Given the description of an element on the screen output the (x, y) to click on. 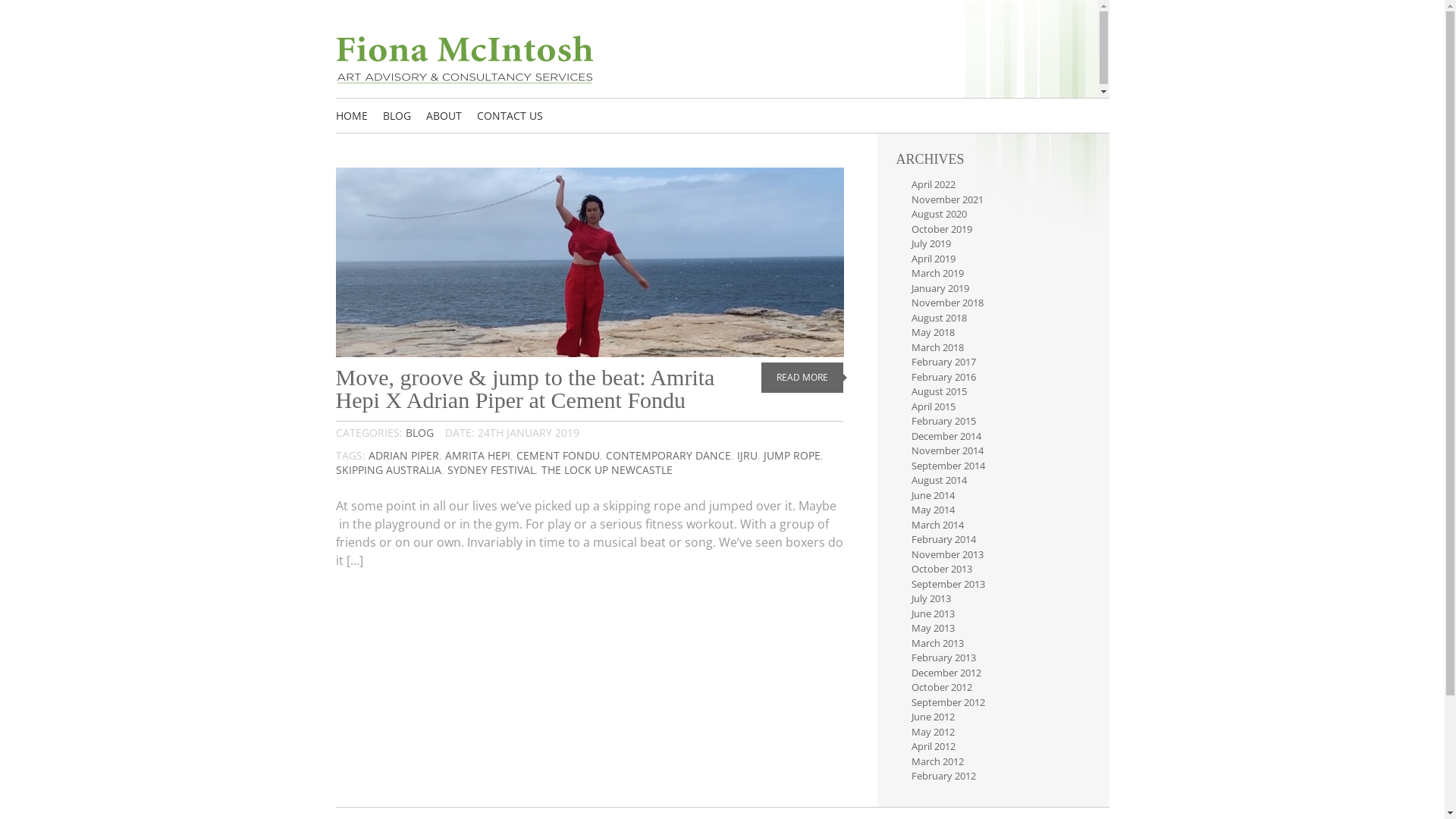
June 2013 Element type: text (932, 613)
June 2012 Element type: text (932, 716)
BLOG Element type: text (418, 432)
November 2018 Element type: text (947, 302)
June 2014 Element type: text (932, 495)
December 2012 Element type: text (946, 672)
May 2012 Element type: text (932, 731)
ABOUT Element type: text (443, 115)
November 2014 Element type: text (947, 450)
February 2013 Element type: text (943, 657)
September 2014 Element type: text (948, 464)
JUMP ROPE Element type: text (790, 454)
November 2013 Element type: text (947, 554)
ADRIAN PIPER Element type: text (403, 454)
October 2013 Element type: text (941, 568)
April 2019 Element type: text (933, 258)
July 2013 Element type: text (930, 598)
CONTEMPORARY DANCE Element type: text (667, 454)
CEMENT FONDU Element type: text (557, 454)
May 2013 Element type: text (932, 627)
March 2013 Element type: text (937, 642)
August 2014 Element type: text (938, 479)
CONTACT US Element type: text (509, 115)
February 2016 Element type: text (943, 376)
August 2015 Element type: text (938, 391)
May 2014 Element type: text (932, 509)
August 2020 Element type: text (938, 213)
November 2021 Element type: text (947, 199)
August 2018 Element type: text (938, 317)
February 2014 Element type: text (943, 539)
IJRU Element type: text (747, 454)
April 2022 Element type: text (933, 184)
SYDNEY FESTIVAL Element type: text (491, 469)
February 2012 Element type: text (943, 775)
February 2017 Element type: text (943, 361)
February 2015 Element type: text (943, 420)
March 2014 Element type: text (937, 523)
April 2012 Element type: text (933, 746)
March 2019 Element type: text (937, 272)
SKIPPING AUSTRALIA Element type: text (387, 469)
May 2018 Element type: text (932, 331)
THE LOCK UP NEWCASTLE Element type: text (606, 469)
October 2012 Element type: text (941, 686)
BLOG Element type: text (396, 115)
July 2019 Element type: text (930, 243)
HOME Element type: text (351, 115)
September 2012 Element type: text (948, 701)
March 2018 Element type: text (937, 346)
October 2019 Element type: text (941, 228)
March 2012 Element type: text (937, 760)
April 2015 Element type: text (933, 405)
December 2014 Element type: text (946, 435)
September 2013 Element type: text (948, 582)
January 2019 Element type: text (940, 287)
AMRITA HEPI Element type: text (476, 454)
